Given the description of an element on the screen output the (x, y) to click on. 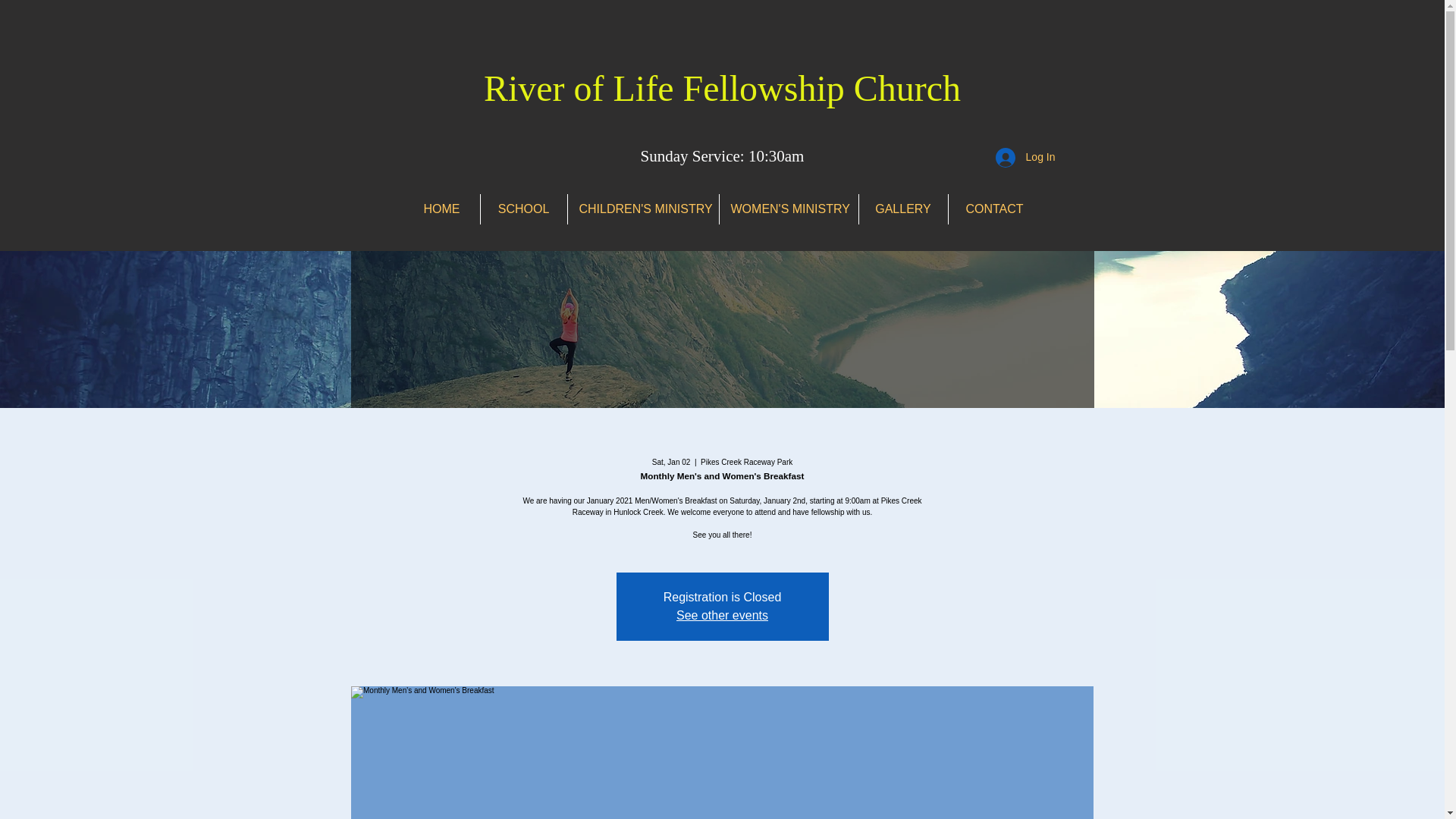
See other events (722, 615)
HOME (441, 209)
CONTACT (994, 209)
Log In (1025, 157)
WOMEN'S MINISTRY (788, 209)
SCHOOL (523, 209)
CHILDREN'S MINISTRY (642, 209)
